Given the description of an element on the screen output the (x, y) to click on. 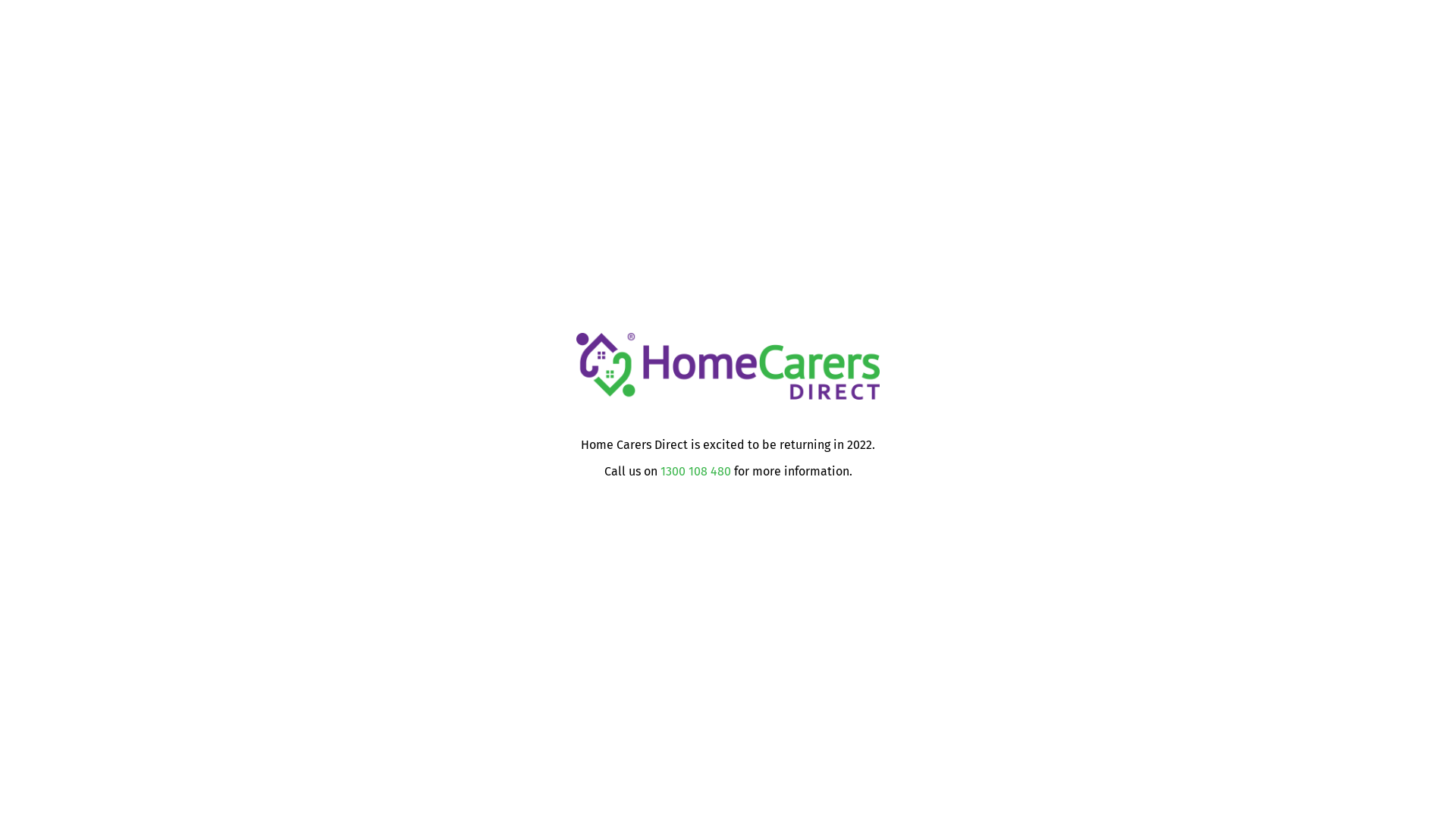
1300 108 480 Element type: text (694, 471)
